Given the description of an element on the screen output the (x, y) to click on. 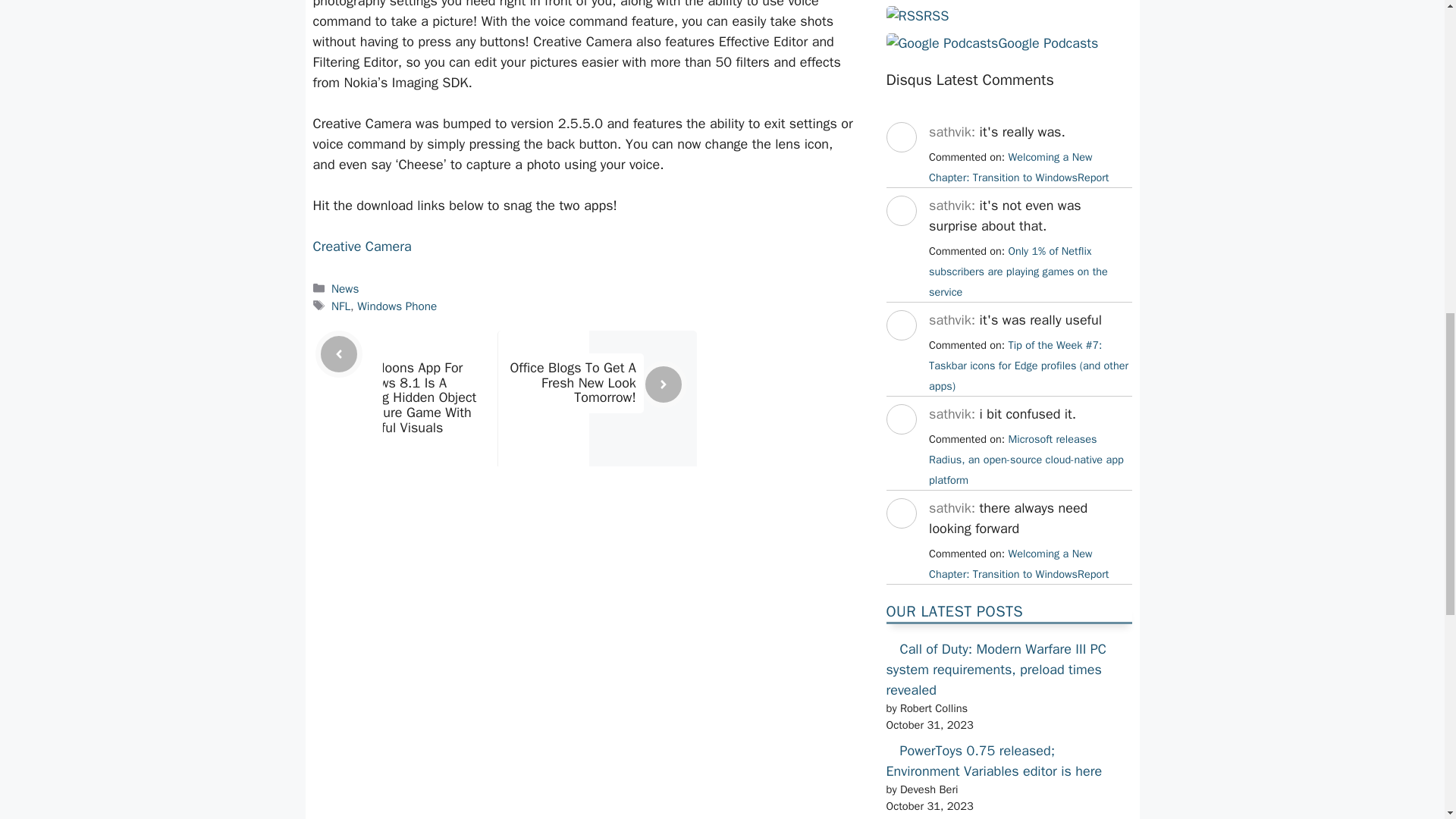
sathvik (900, 166)
July 24, 2024 (1018, 166)
June 15, 2024 (1026, 459)
July 8, 2024 (1028, 365)
May 20, 2024 (1018, 563)
sathvik (900, 239)
sathvik (900, 541)
sathvik (900, 447)
sathvik (900, 353)
July 11, 2024 (1018, 271)
